Given the description of an element on the screen output the (x, y) to click on. 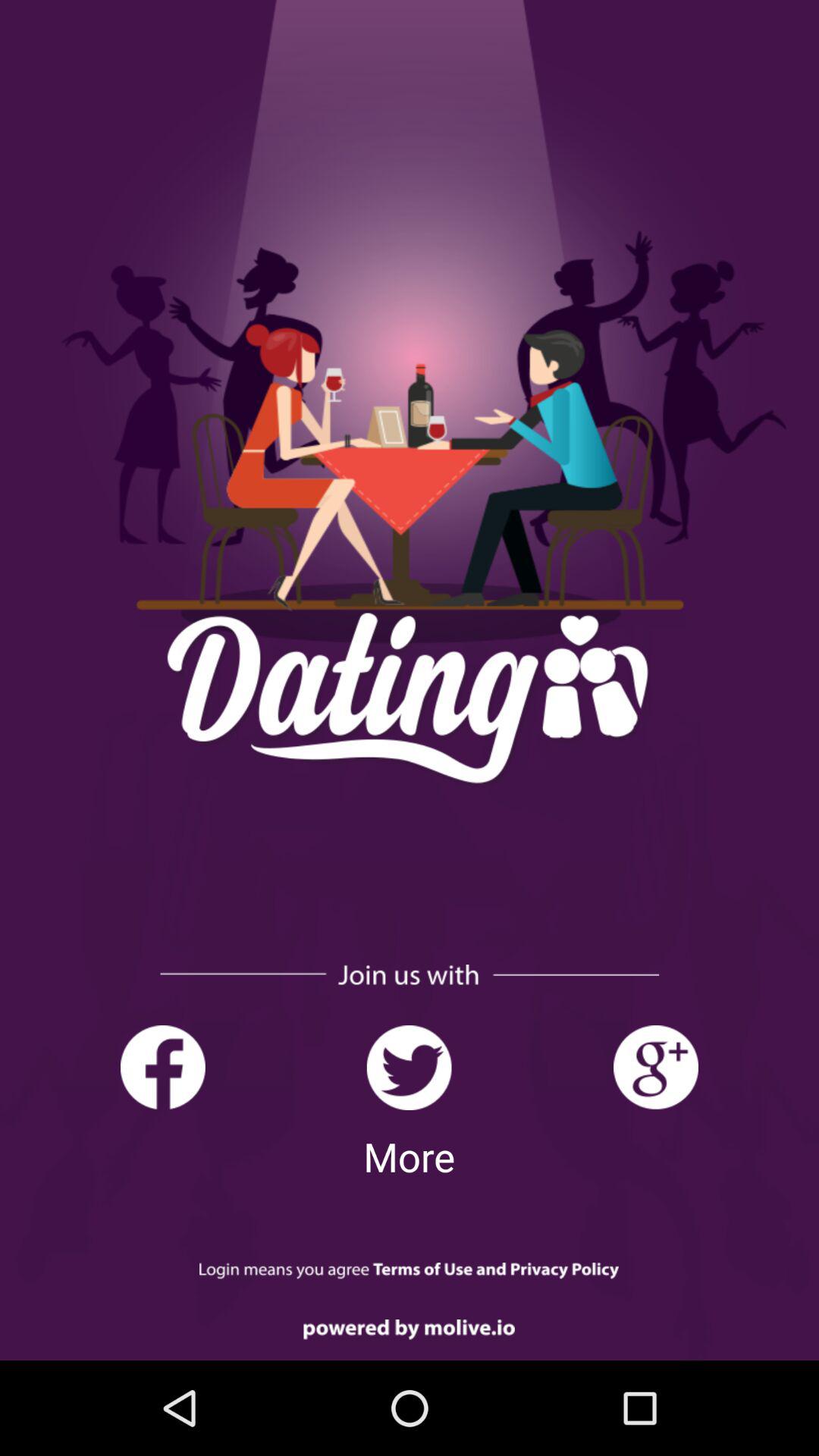
read terms of service (408, 1270)
